Given the description of an element on the screen output the (x, y) to click on. 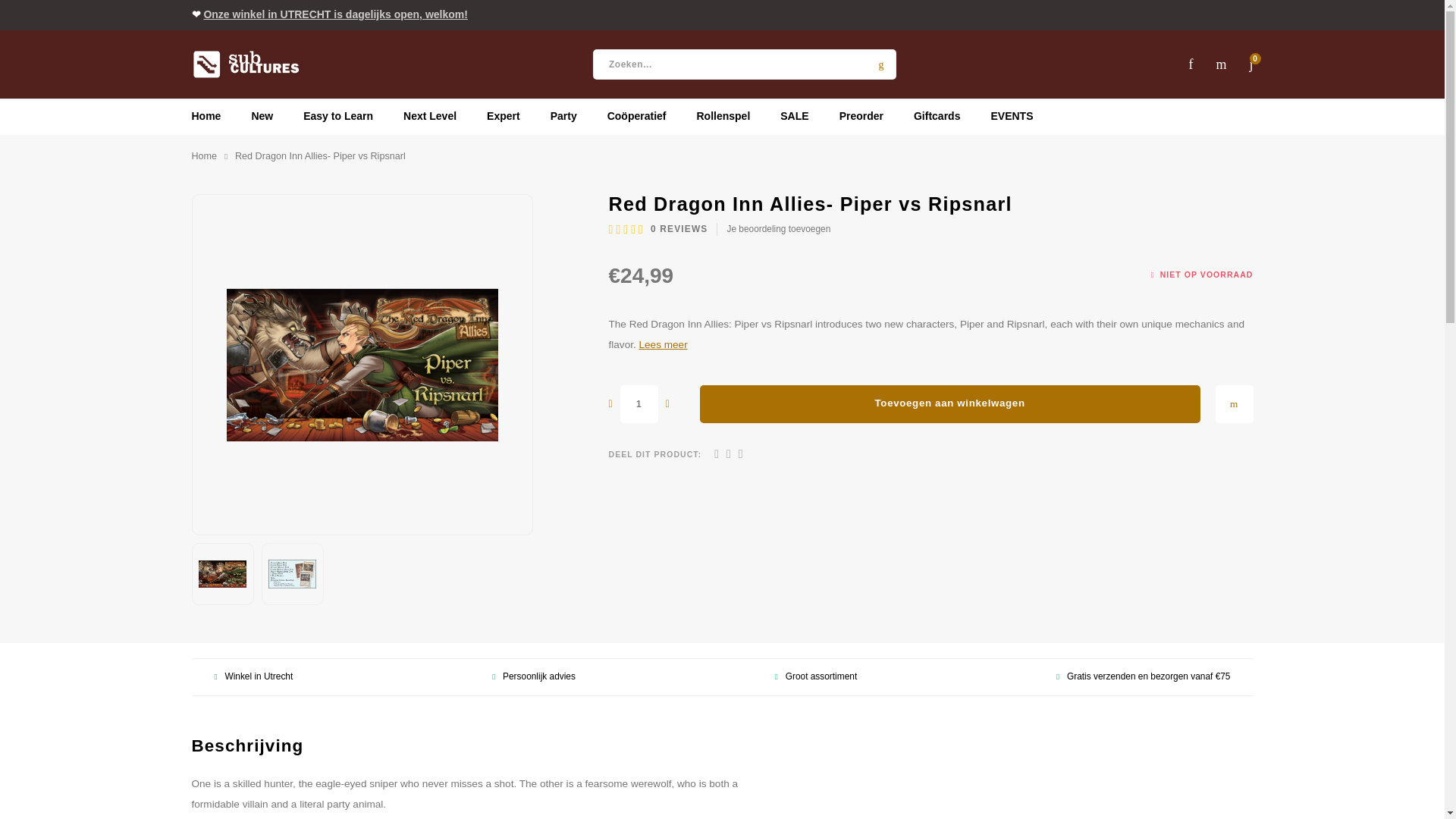
Slugfest Games Red Dragon Inn Allies- Piper vs Ripsnarl (292, 573)
Aan verlanglijst toevoegen (1233, 403)
Home (203, 156)
1 (639, 403)
Toevoegen aan winkelwagen (949, 403)
Zoeken (881, 64)
Slugfest Games Red Dragon Inn Allies- Piper vs Ripsnarl (222, 573)
Slugfest Games Red Dragon Inn Allies- Piper vs Ripsnarl (361, 364)
